Given the description of an element on the screen output the (x, y) to click on. 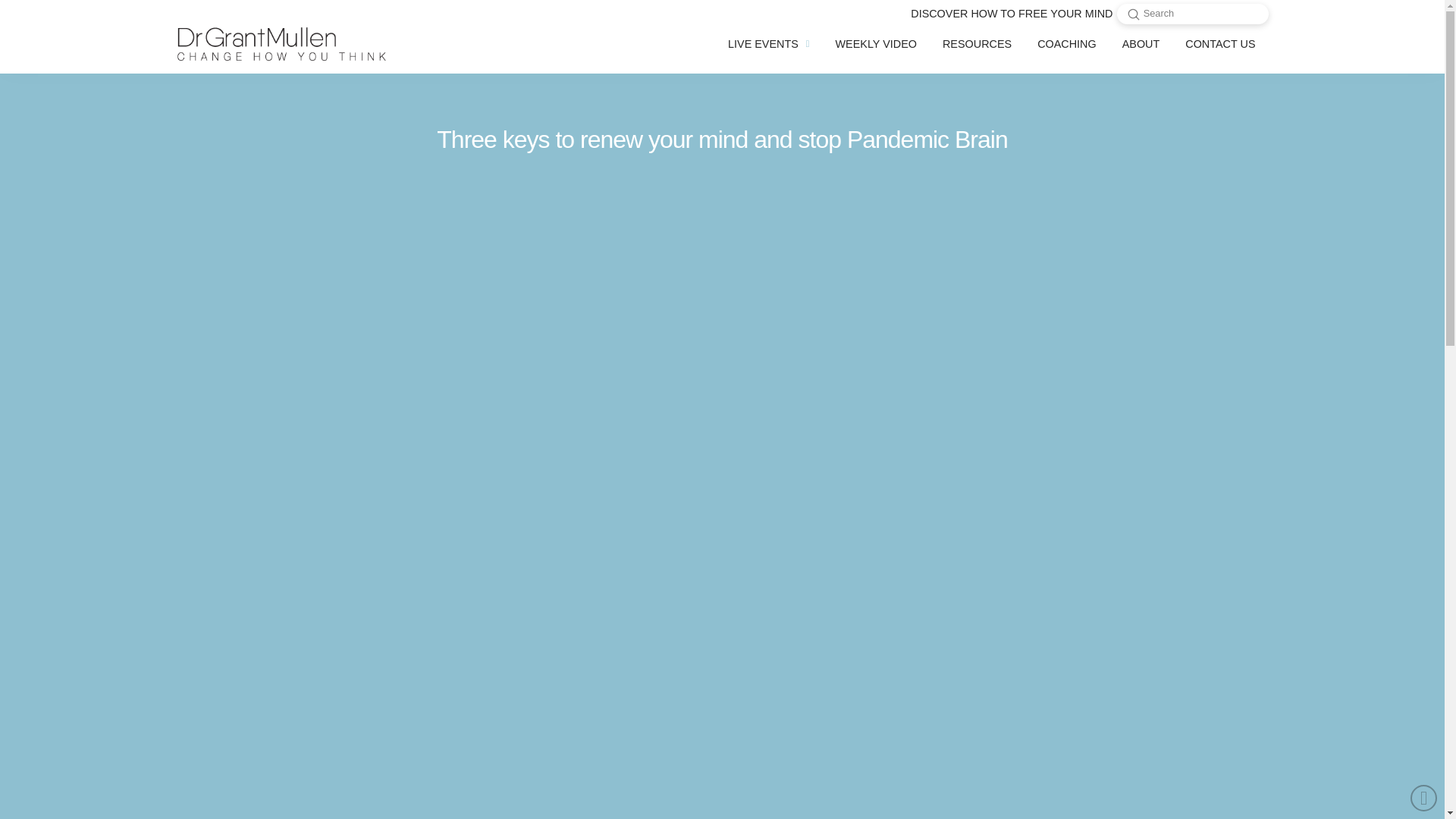
LIVE EVENTS (768, 44)
DISCOVER HOW TO FREE YOUR MIND (1011, 14)
Back to Top (1423, 797)
COACHING (1067, 44)
WEEKLY VIDEO (876, 44)
ABOUT (1141, 44)
CONTACT US (1220, 44)
RESOURCES (977, 44)
